Given the description of an element on the screen output the (x, y) to click on. 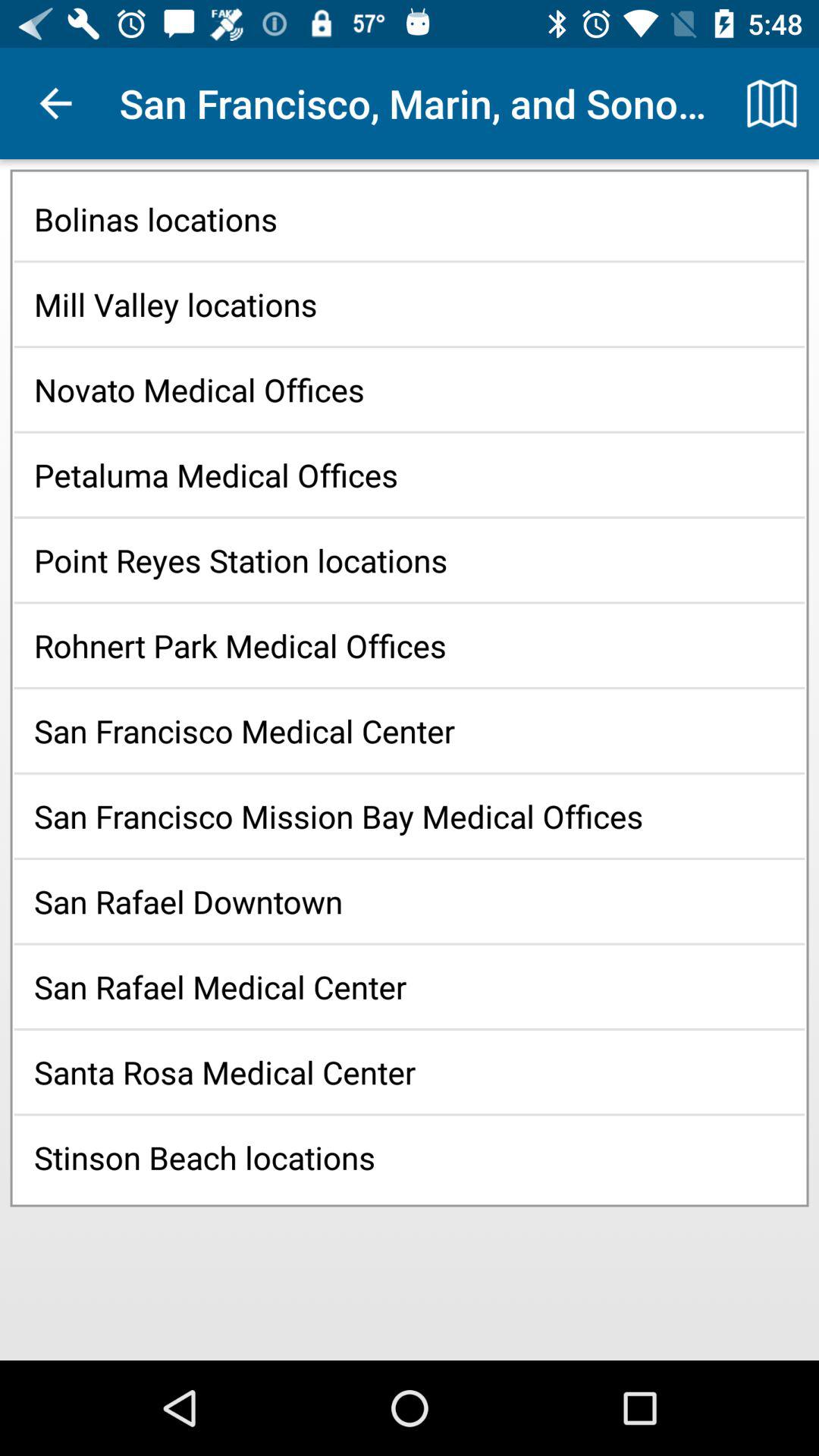
scroll until stinson beach locations item (409, 1156)
